Given the description of an element on the screen output the (x, y) to click on. 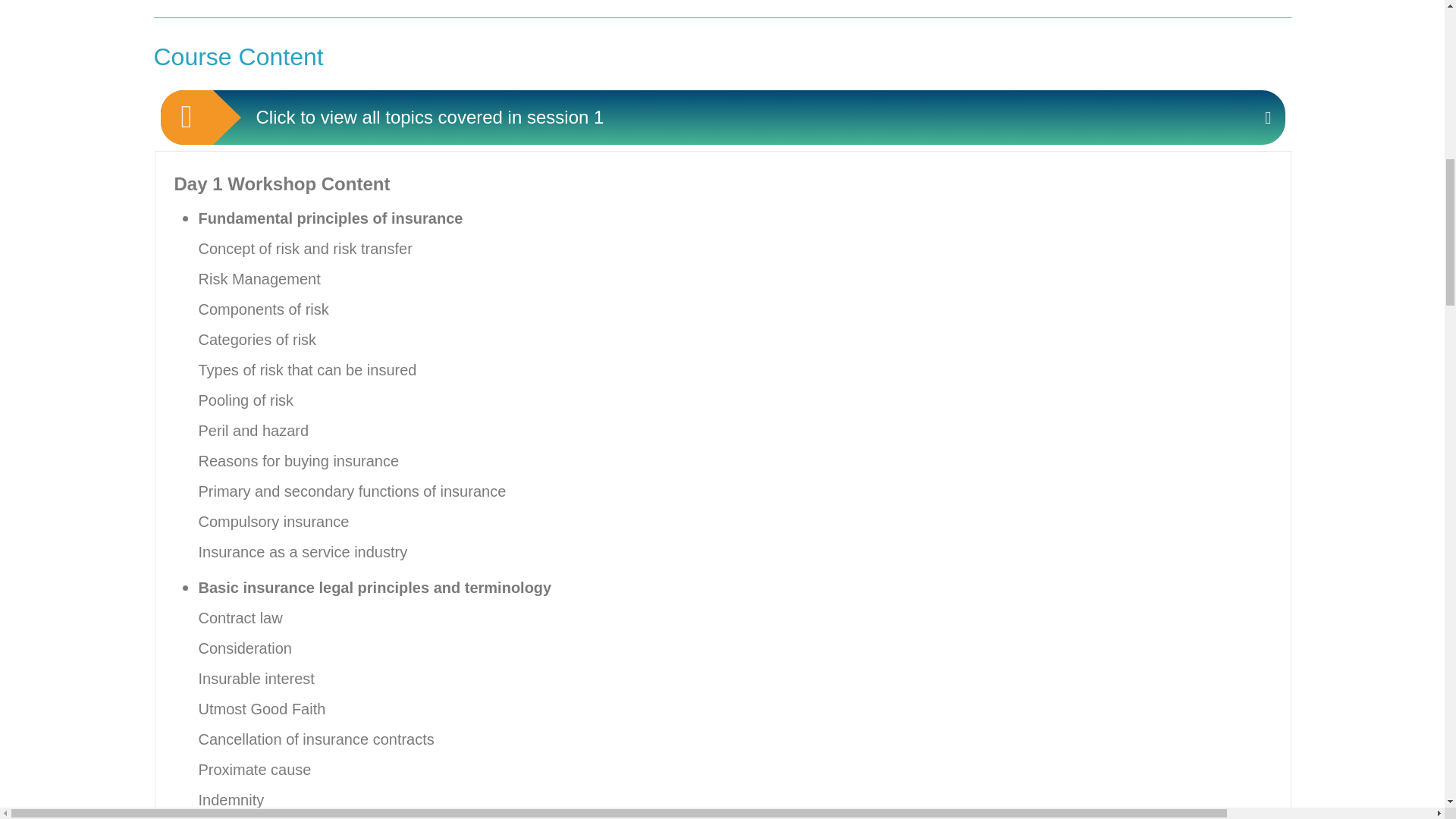
Click to view all topics covered in session 1 (722, 117)
